Given the description of an element on the screen output the (x, y) to click on. 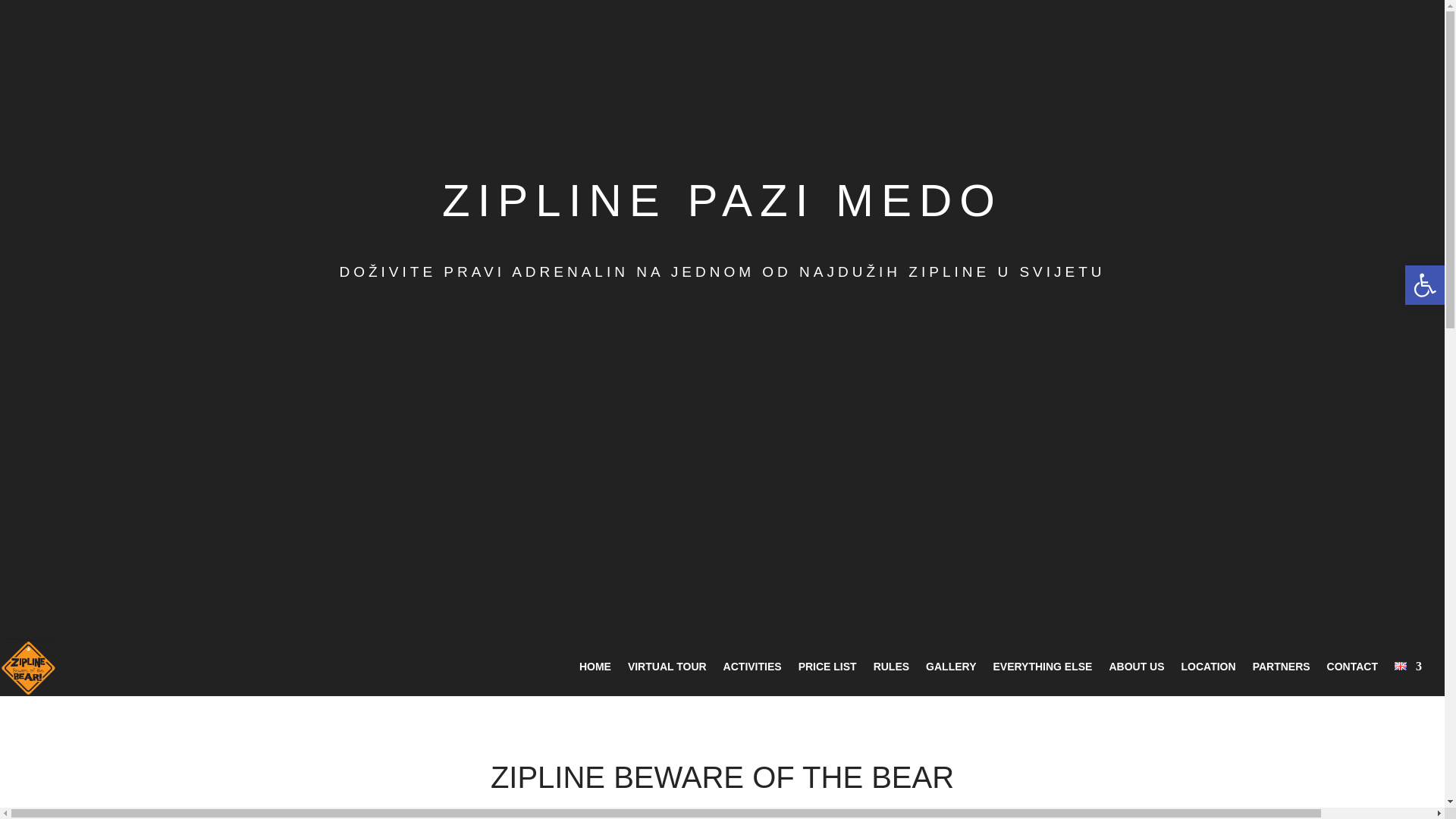
RULES (890, 669)
ACTIVITIES (752, 669)
ABOUT US (1135, 669)
PRICE LIST (827, 669)
PARTNERS (1281, 669)
CONTACT (1351, 669)
Accessibility Tools (1424, 284)
VIRTUAL TOUR (1424, 284)
HOME (666, 669)
GALLERY (595, 669)
LOCATION (950, 669)
Accessibility Tools (1208, 669)
EVERYTHING ELSE (1424, 284)
